Given the description of an element on the screen output the (x, y) to click on. 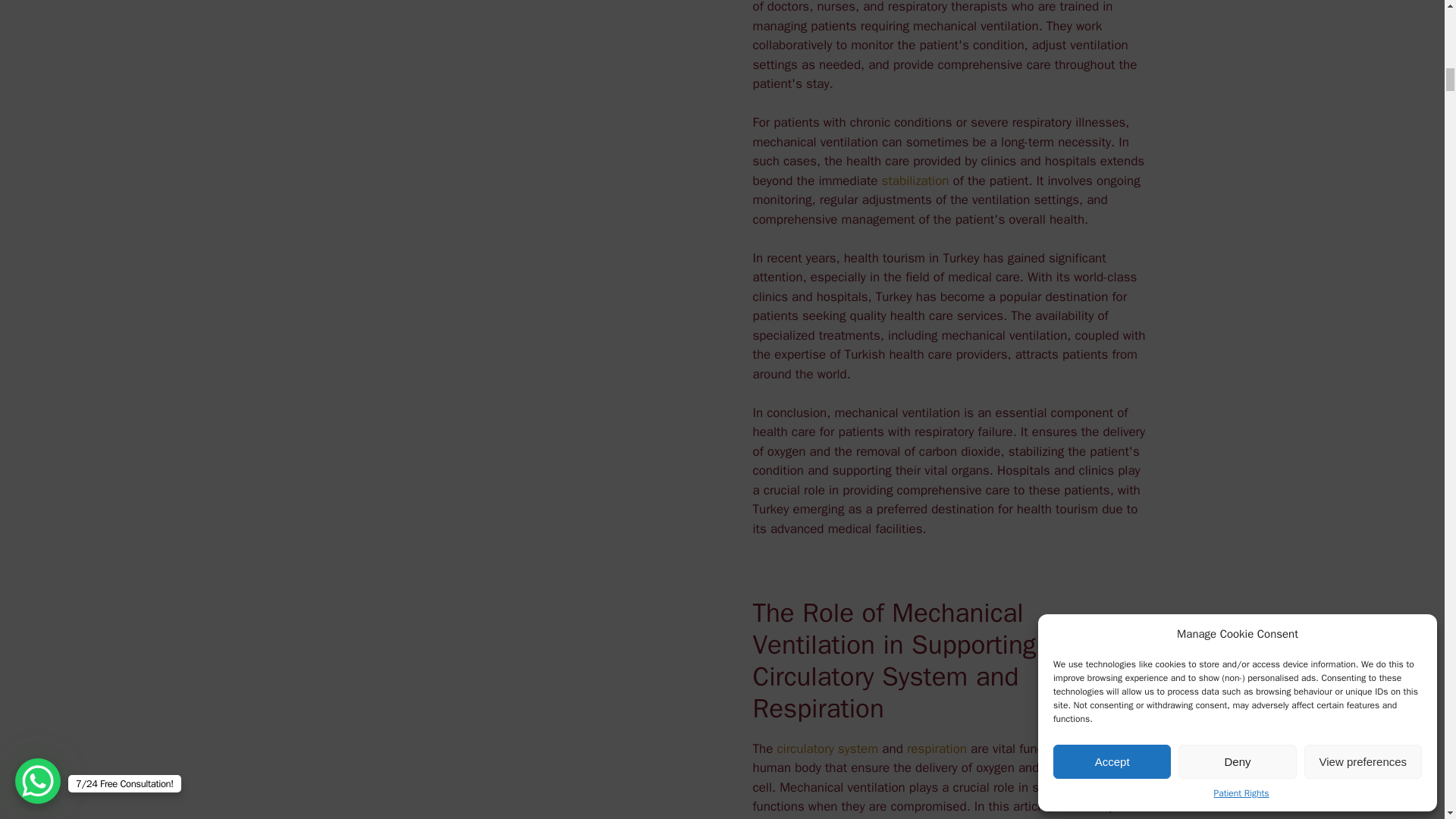
stabilization (915, 180)
